Given the description of an element on the screen output the (x, y) to click on. 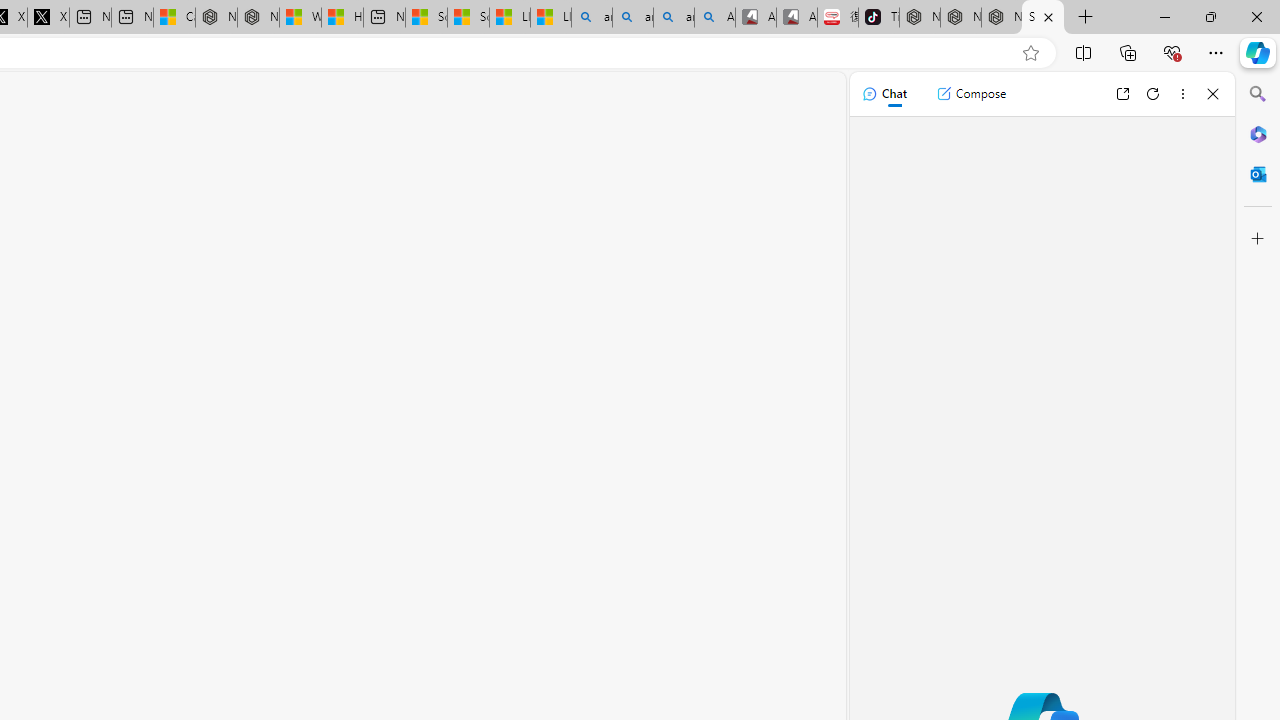
Nordace Siena Pro 15 Backpack (960, 17)
amazon - Search Images (673, 17)
TikTok (878, 17)
Chat (884, 93)
